Given the description of an element on the screen output the (x, y) to click on. 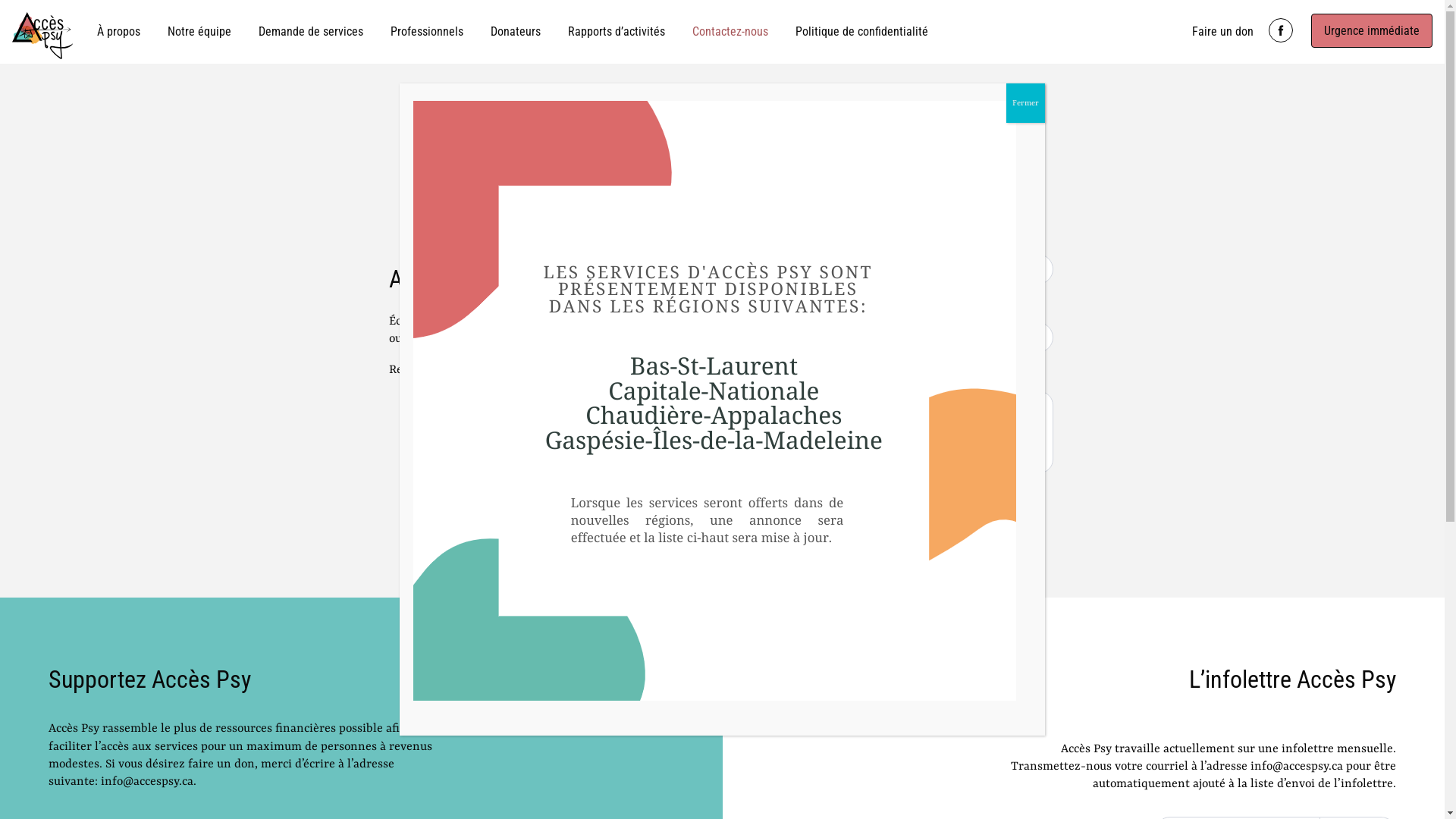
Fermer Element type: text (1025, 102)
Contactez-nous Element type: text (730, 31)
Demande de services Element type: text (310, 31)
Envoyer Element type: text (769, 507)
Donateurs Element type: text (515, 31)
Professionnels Element type: text (426, 31)
info@accespsy.ca Element type: text (602, 338)
Facebook Element type: text (1280, 30)
sur Facebook Element type: text (570, 369)
Faire un don Element type: text (1222, 31)
